Given the description of an element on the screen output the (x, y) to click on. 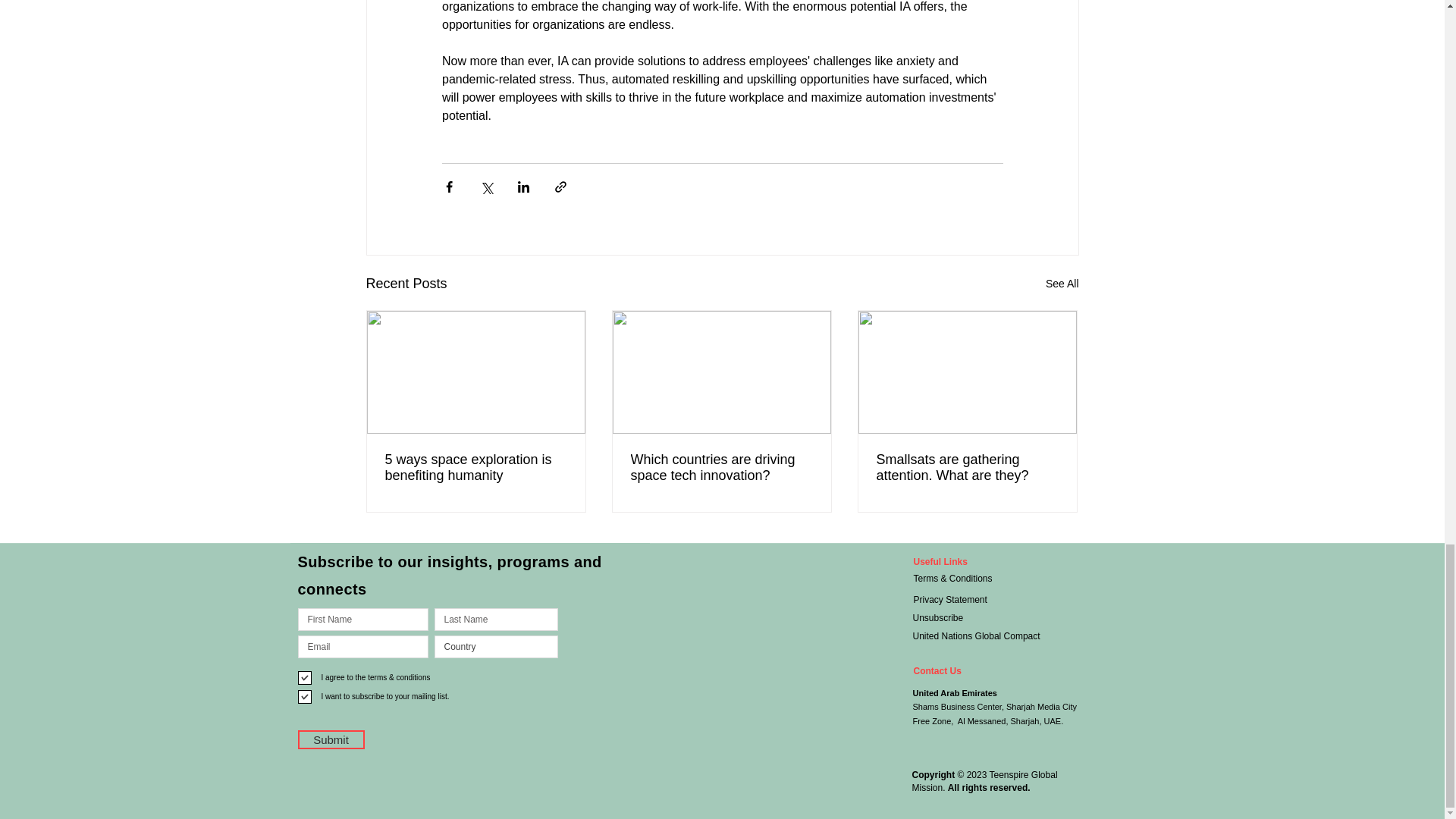
Which countries are driving space tech innovation? (721, 468)
Smallsats are gathering attention. What are they? (967, 468)
Unsubscribe (962, 617)
United Nations Global Compact (991, 635)
Submit (330, 739)
Privacy Statement (962, 599)
See All (1061, 283)
5 ways space exploration is benefiting humanity (476, 468)
